Given the description of an element on the screen output the (x, y) to click on. 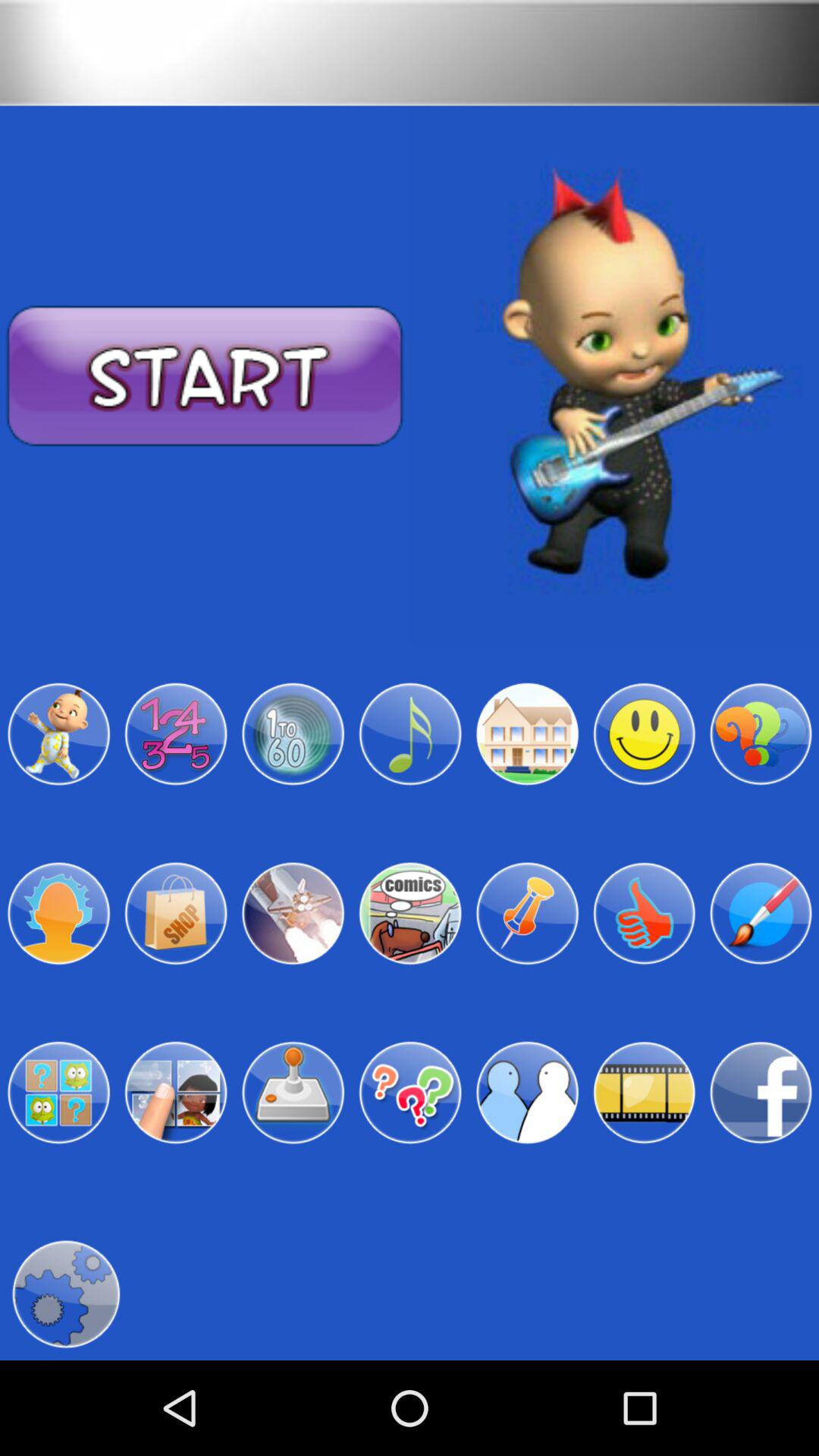
click for settings (65, 1294)
